Given the description of an element on the screen output the (x, y) to click on. 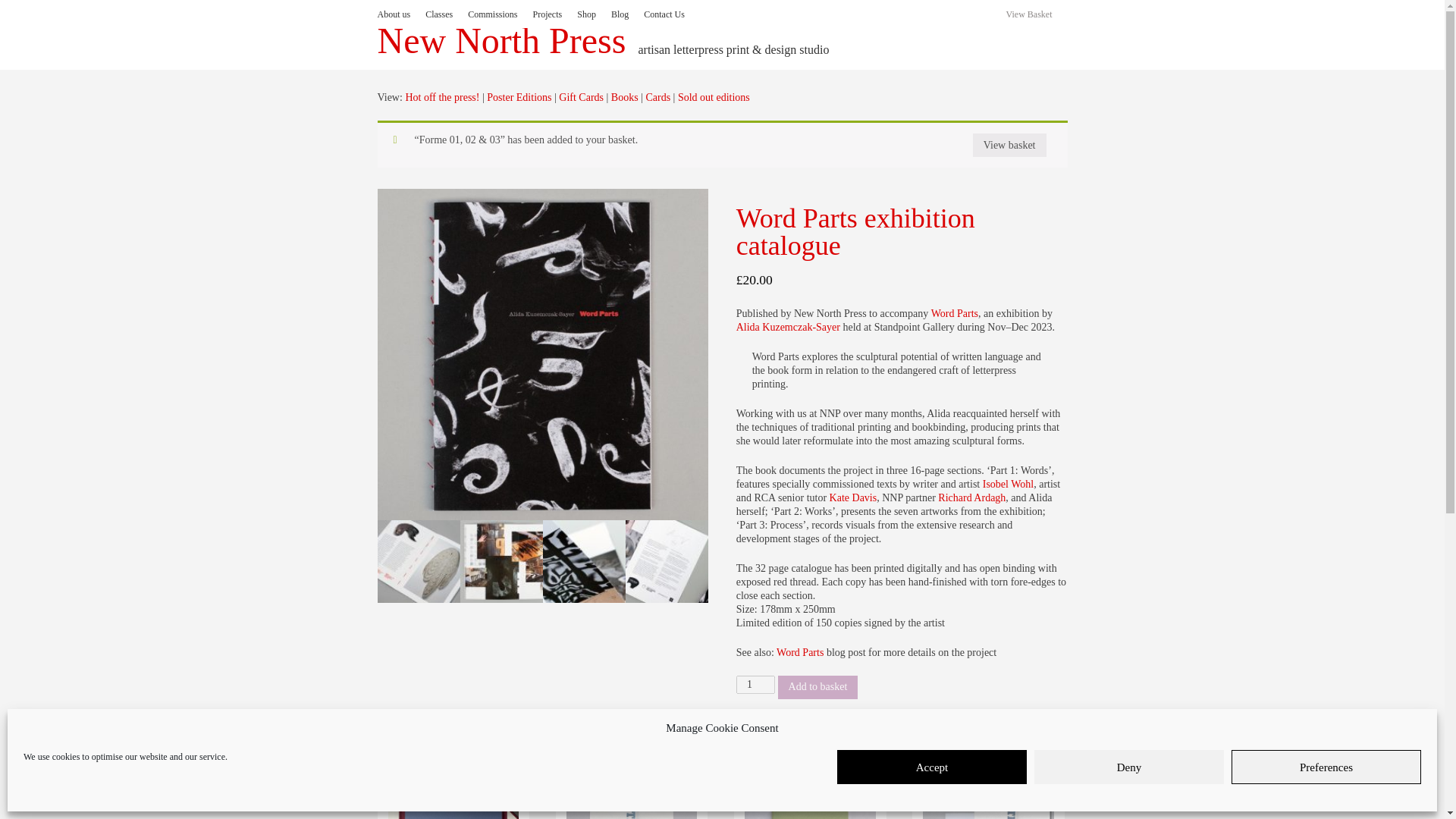
Poster Editions (518, 97)
New North Press (501, 40)
View basket (1009, 145)
Kate Davis (853, 497)
Contact Us (671, 13)
Word Parts (800, 652)
Commissions (499, 13)
Isobel Wohl (1007, 483)
Shop (593, 13)
Hot off the press! (441, 97)
Projects (555, 13)
Richard Ardagh (971, 497)
Word Parts (954, 313)
Blog (627, 13)
Sold out editions (713, 97)
